Given the description of an element on the screen output the (x, y) to click on. 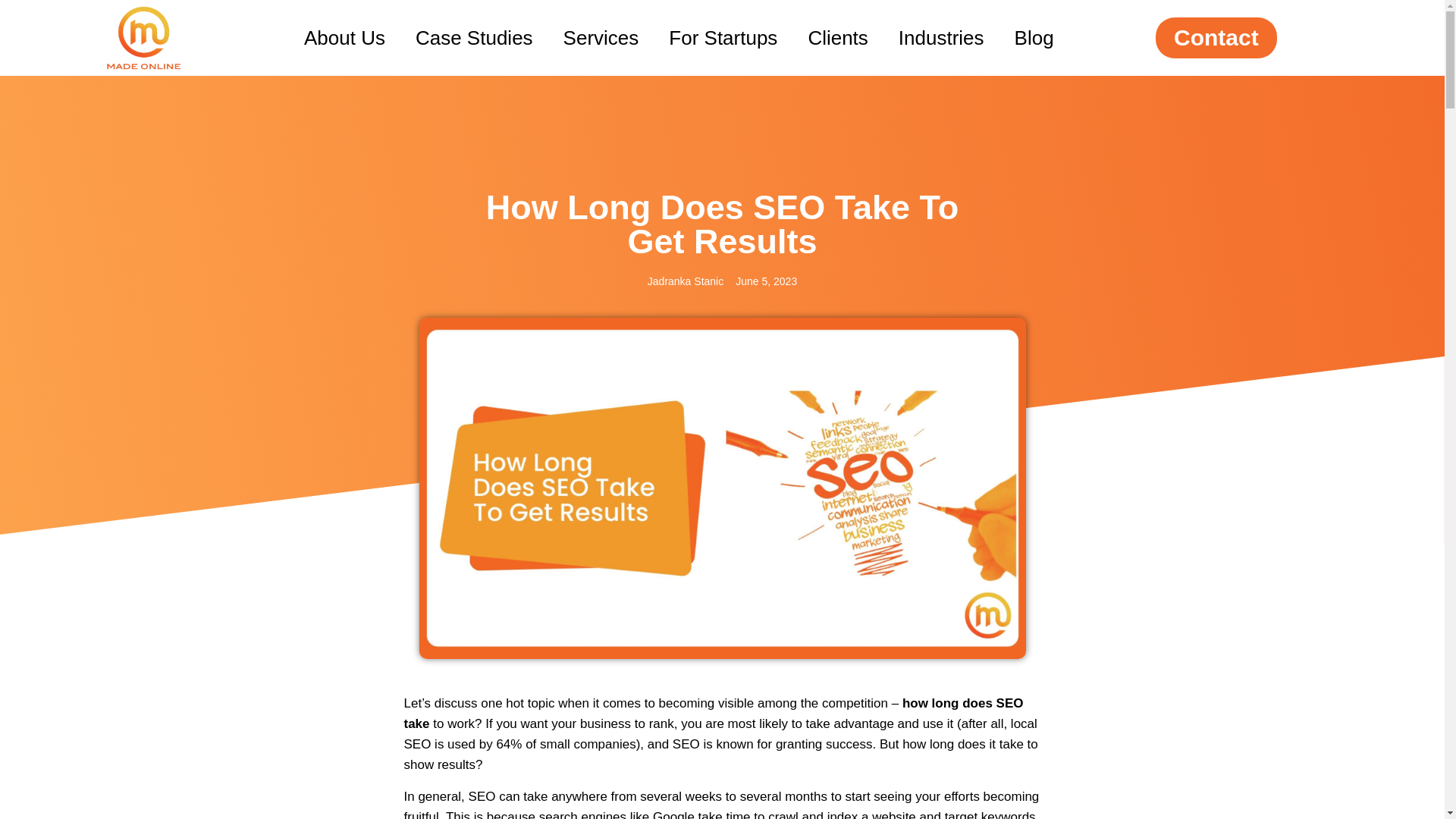
Industries (940, 37)
Case Studies (474, 37)
Clients (837, 37)
Blog (1033, 37)
Services (600, 37)
For Startups (722, 37)
About Us (344, 37)
